Given the description of an element on the screen output the (x, y) to click on. 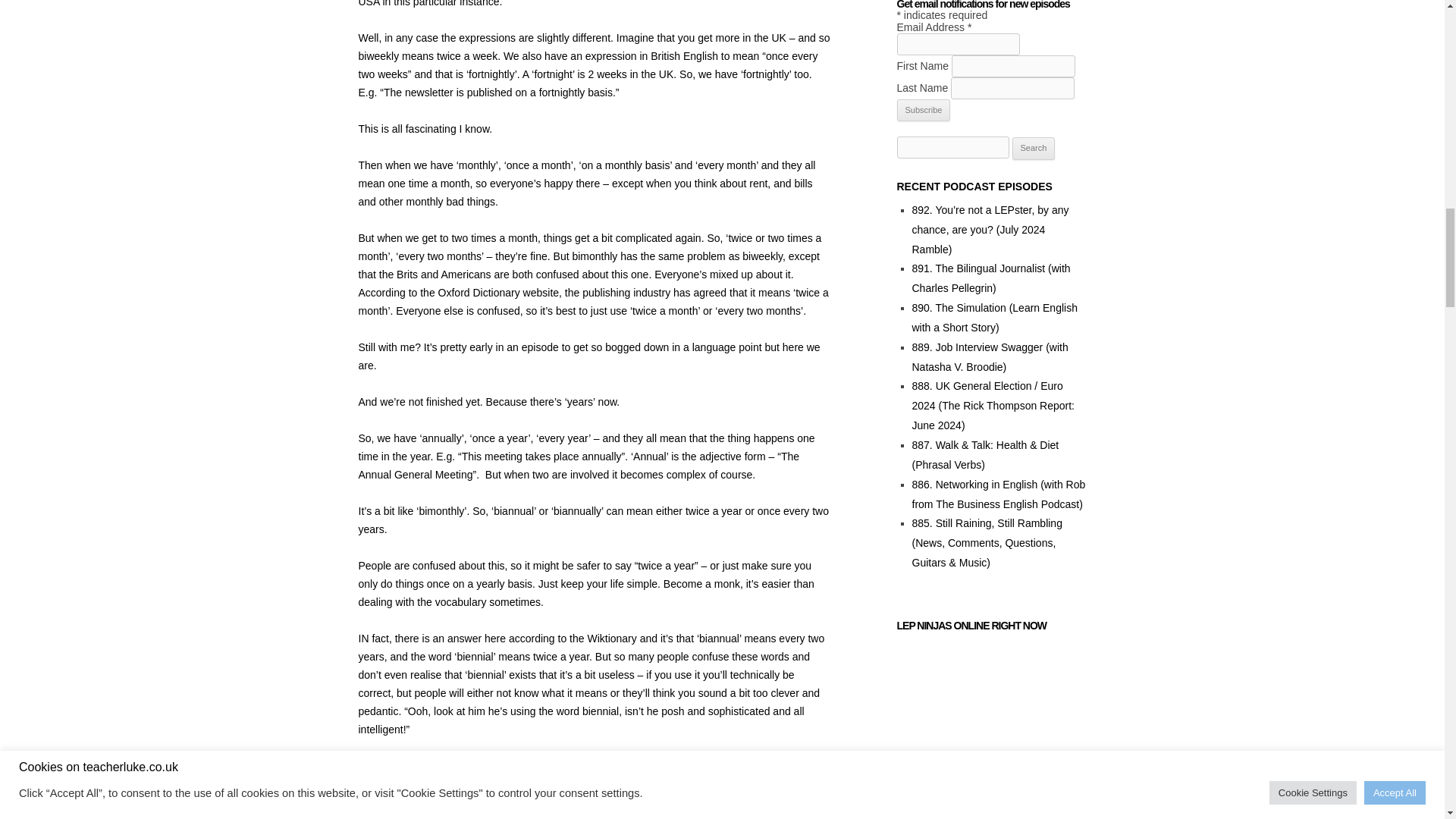
Subscribe (923, 110)
Search (1033, 148)
